Given the description of an element on the screen output the (x, y) to click on. 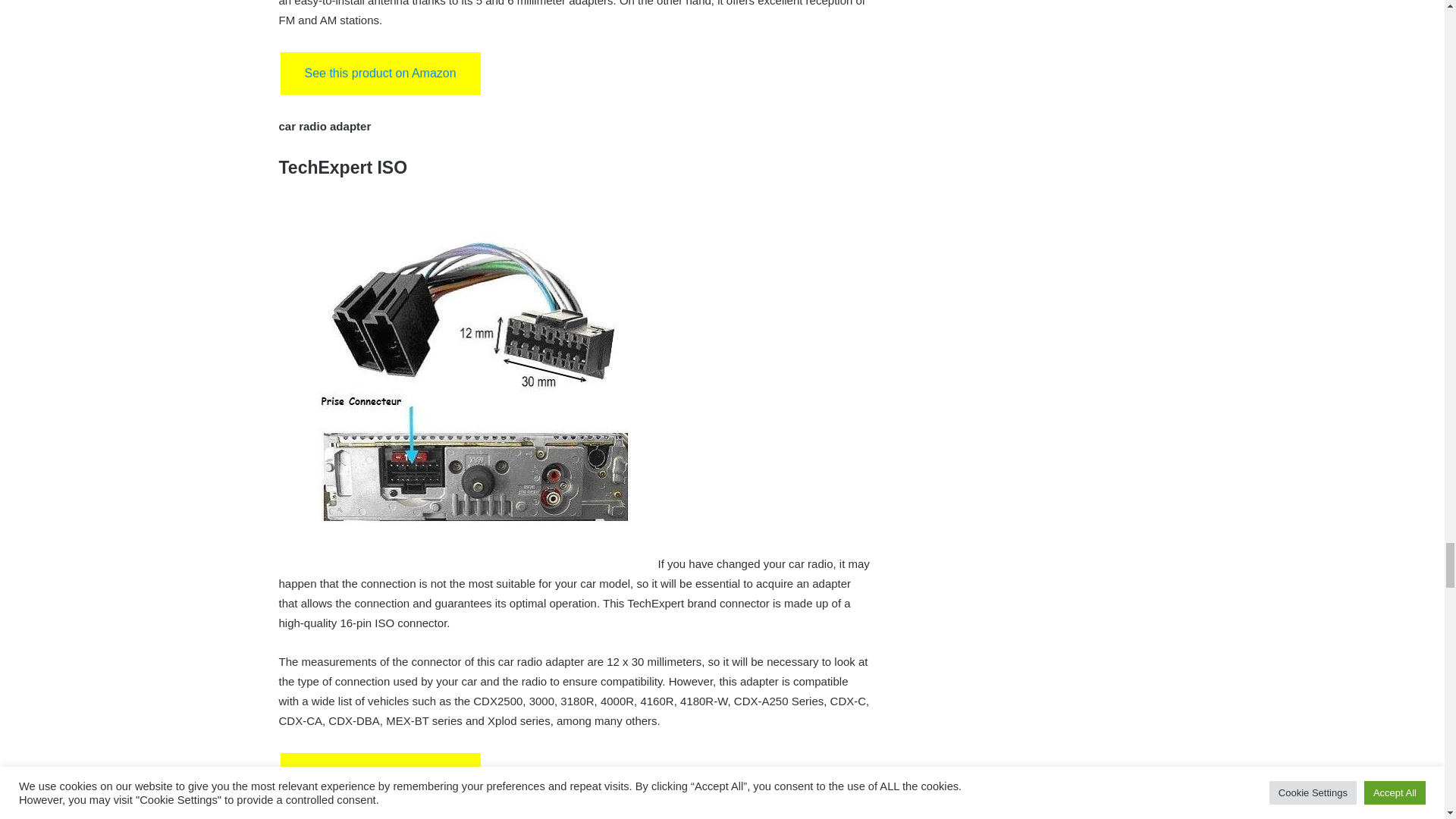
See this product on Amazon (380, 73)
See this product on Amazon (380, 773)
